Given the description of an element on the screen output the (x, y) to click on. 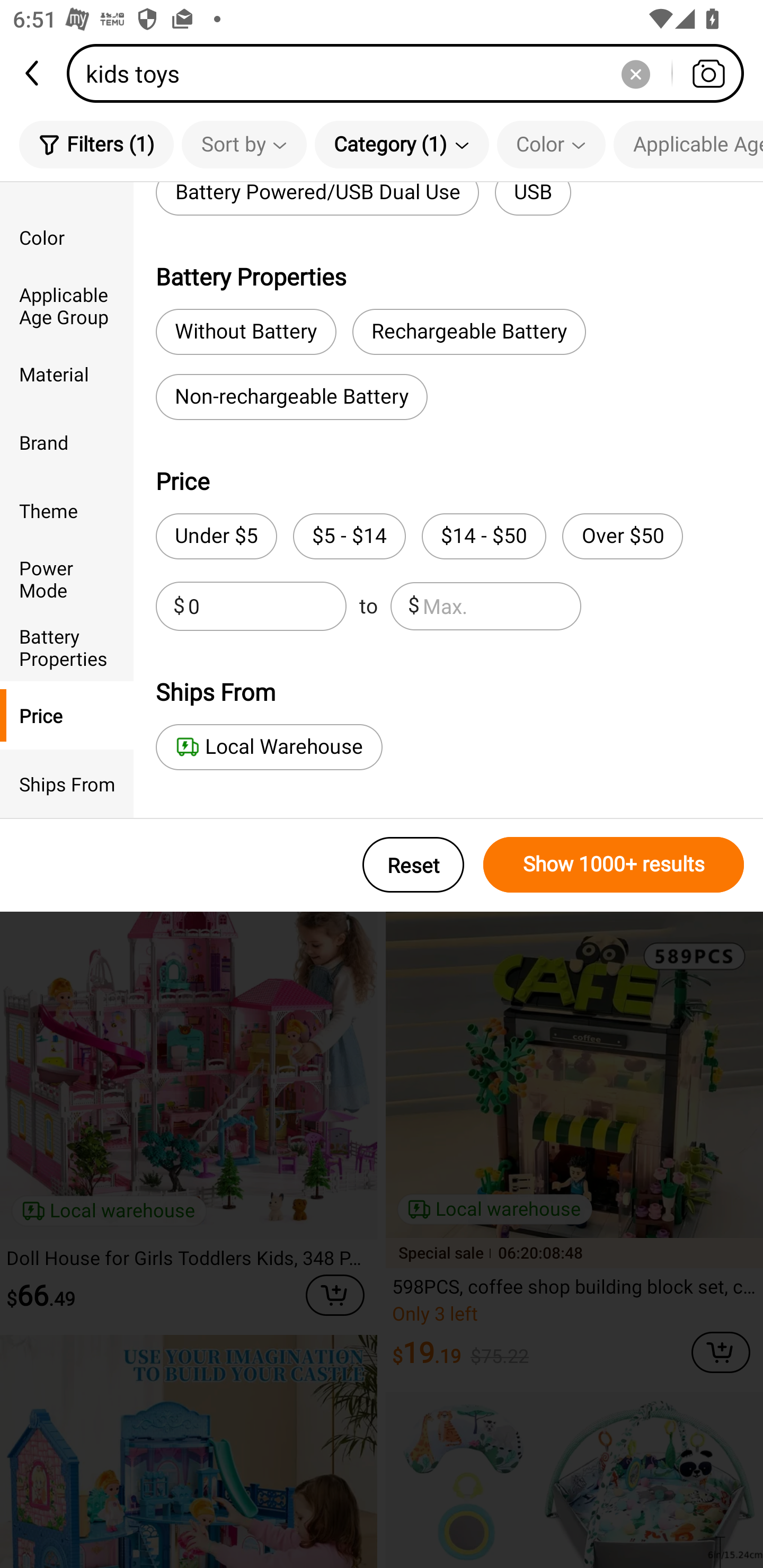
back (33, 72)
kids toys (411, 73)
Delete search history (635, 73)
Search by photo (708, 73)
Filters (1) (96, 143)
Sort by (243, 143)
Category (1) (401, 143)
Color (550, 143)
Applicable Age Group (688, 143)
Battery Powered/USB Dual Use (317, 198)
USB (533, 198)
Color (66, 236)
Applicable Age Group (66, 305)
Without Battery (245, 331)
Rechargeable Battery (468, 331)
Material (66, 373)
Non-rechargeable Battery (291, 397)
Brand (66, 441)
Theme (66, 510)
Under $5 (215, 535)
$5 - $14 (348, 535)
$14 - $50 (483, 535)
Over $50 (622, 535)
Power Mode (66, 578)
$ 0 to $ Max. (368, 605)
Battery Properties (66, 646)
Price (66, 714)
Local Warehouse (268, 746)
Ships From (66, 783)
Reset (412, 864)
Show 1000+ results (612, 864)
